Given the description of an element on the screen output the (x, y) to click on. 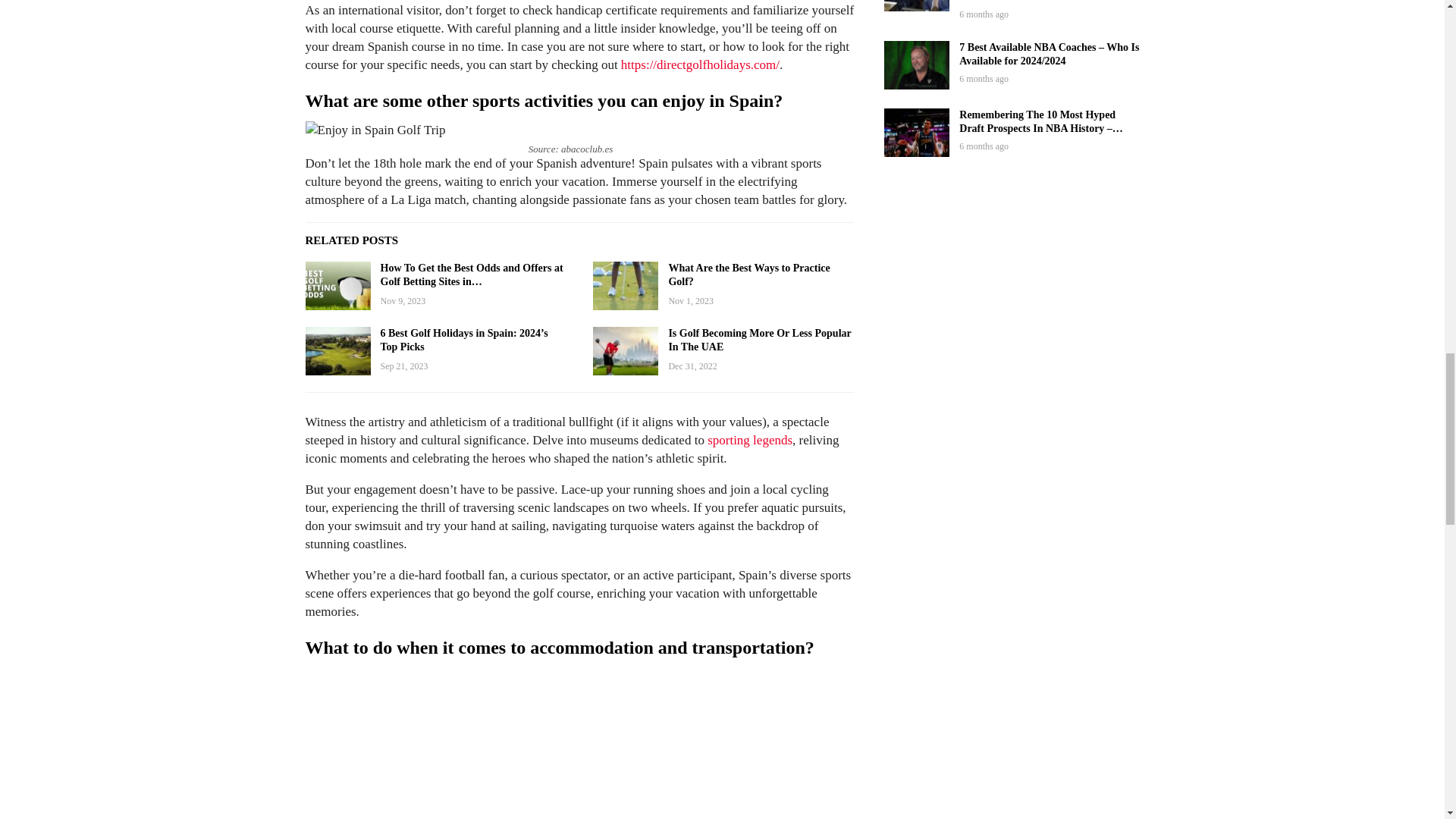
Is Golf Becoming More Or Less Popular In The UAE (625, 350)
